Given the description of an element on the screen output the (x, y) to click on. 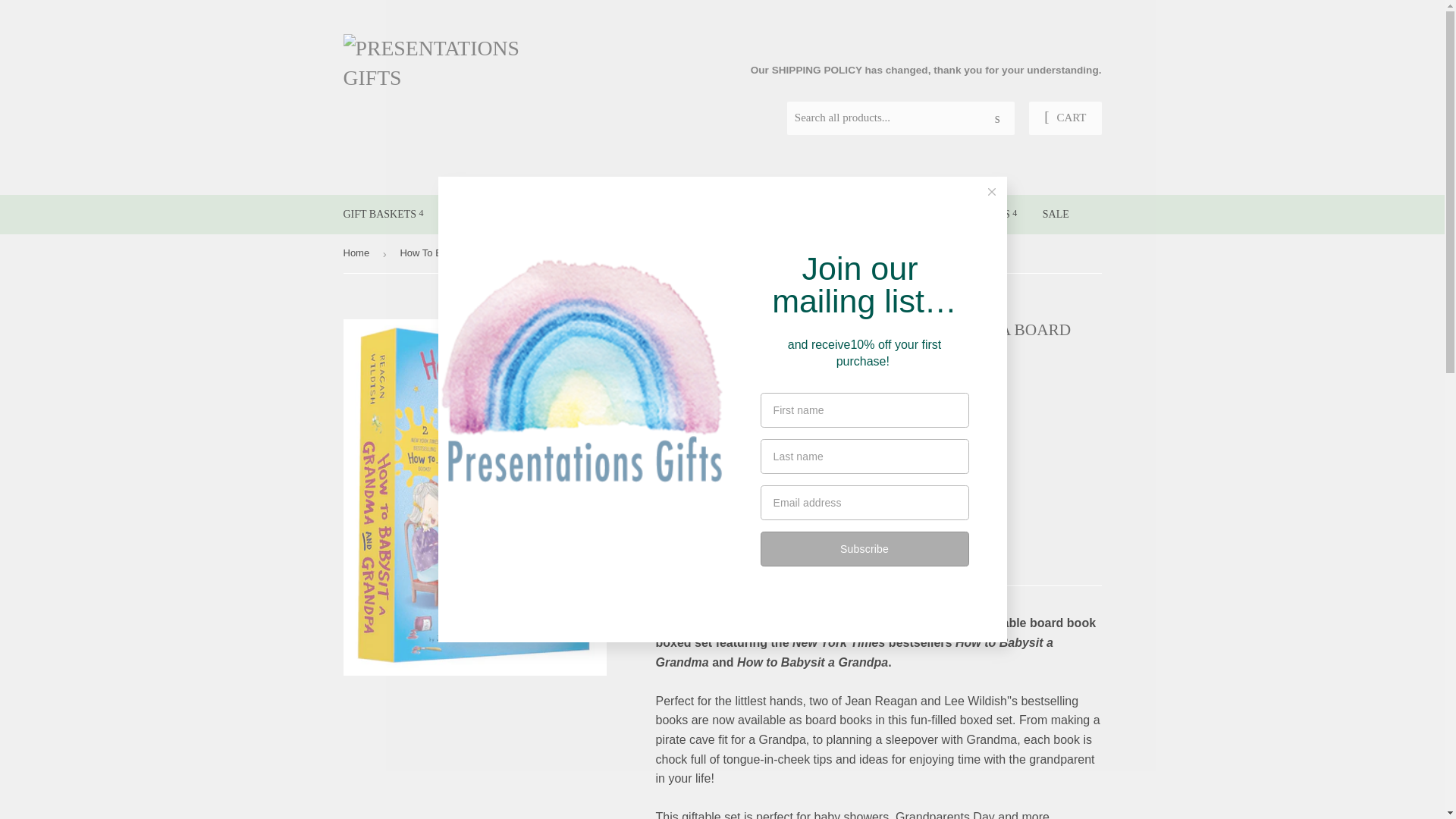
Search (996, 119)
CART (1064, 118)
Back to the frontpage (358, 253)
